Given the description of an element on the screen output the (x, y) to click on. 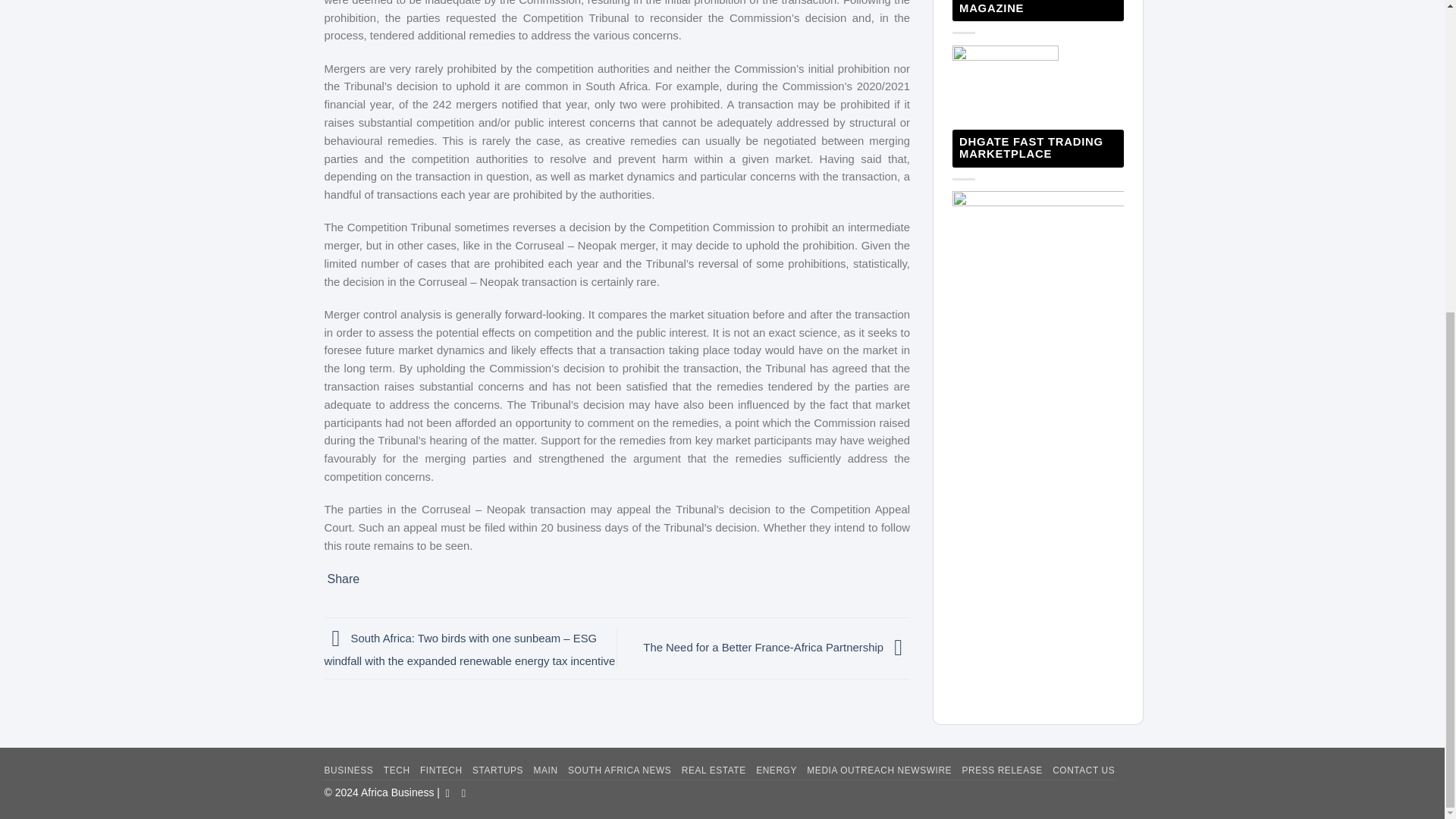
BUSINESS (349, 769)
UAE Business Magazine (1005, 79)
The Need for a Better France-Africa Partnership (776, 647)
UAE Business Magazine (1038, 210)
FINTECH (441, 769)
Share (343, 579)
TECH (397, 769)
